Given the description of an element on the screen output the (x, y) to click on. 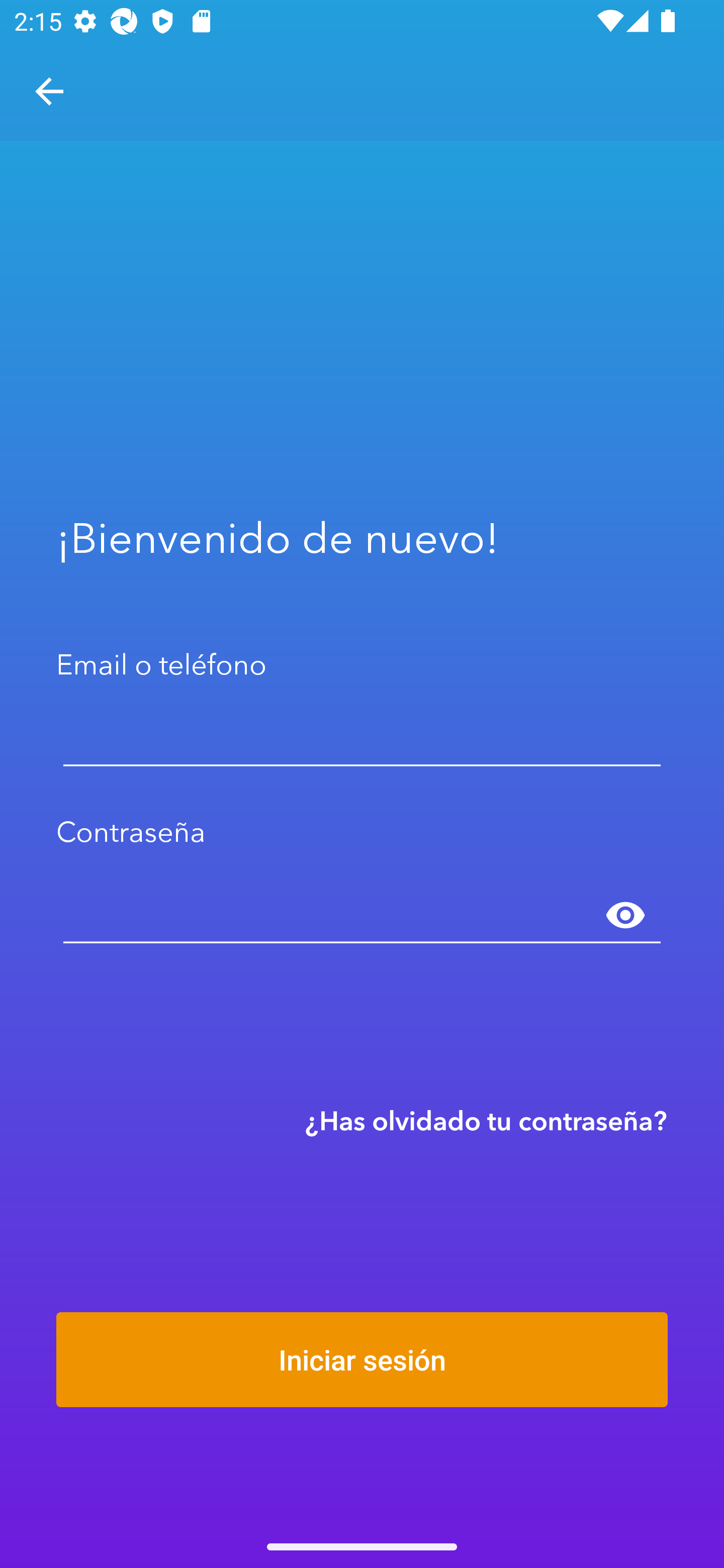
Navegar hacia arriba (49, 91)
Mostrar contraseña (625, 915)
¿Has olvidado tu contraseña? (486, 1119)
Iniciar sesión (361, 1359)
